Given the description of an element on the screen output the (x, y) to click on. 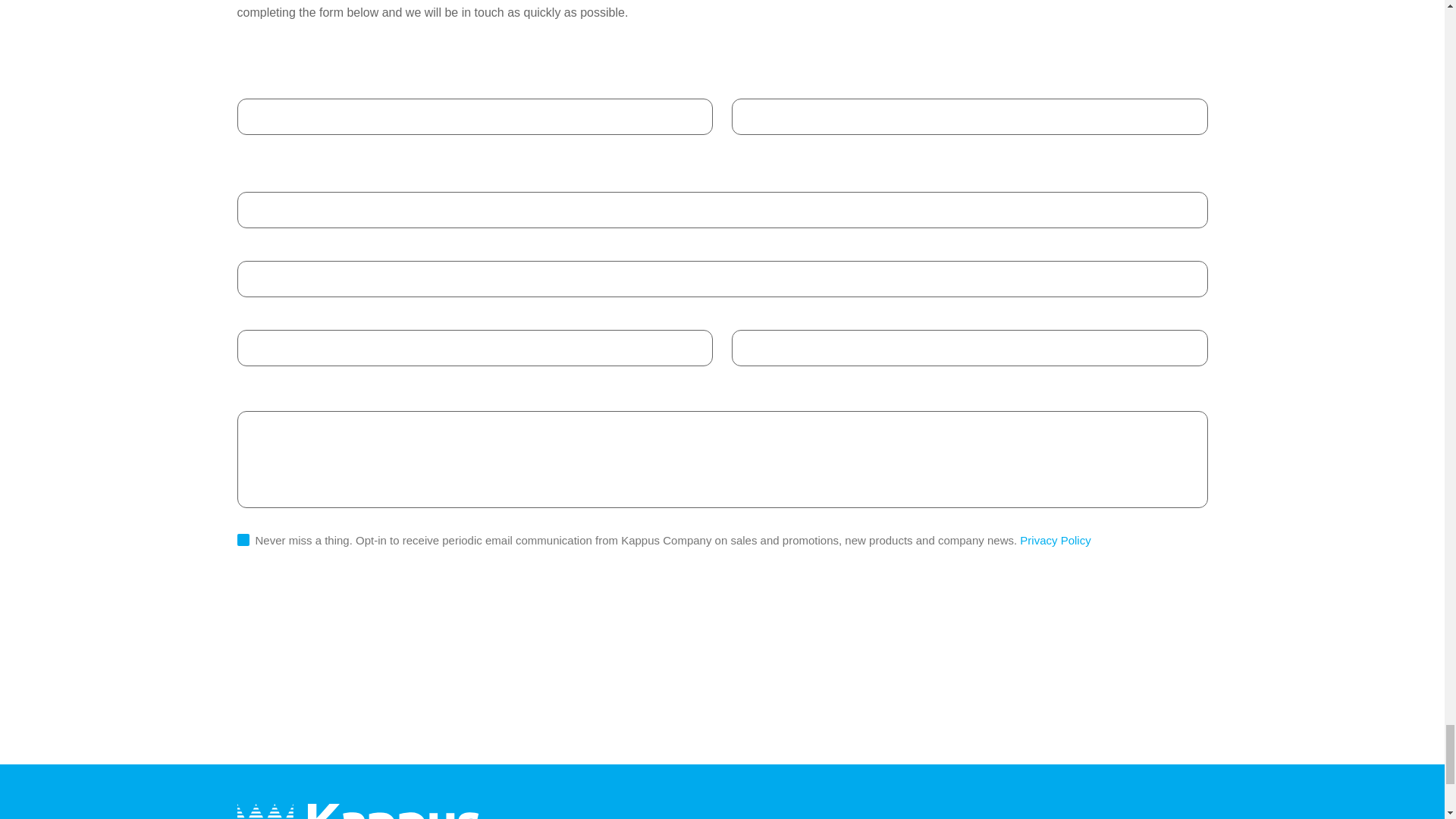
Submit (279, 617)
Follow on Facebook (1121, 814)
Follow on Instagram (1190, 814)
Kappus Logo (357, 811)
Follow on LinkedIn (1051, 814)
